Given the description of an element on the screen output the (x, y) to click on. 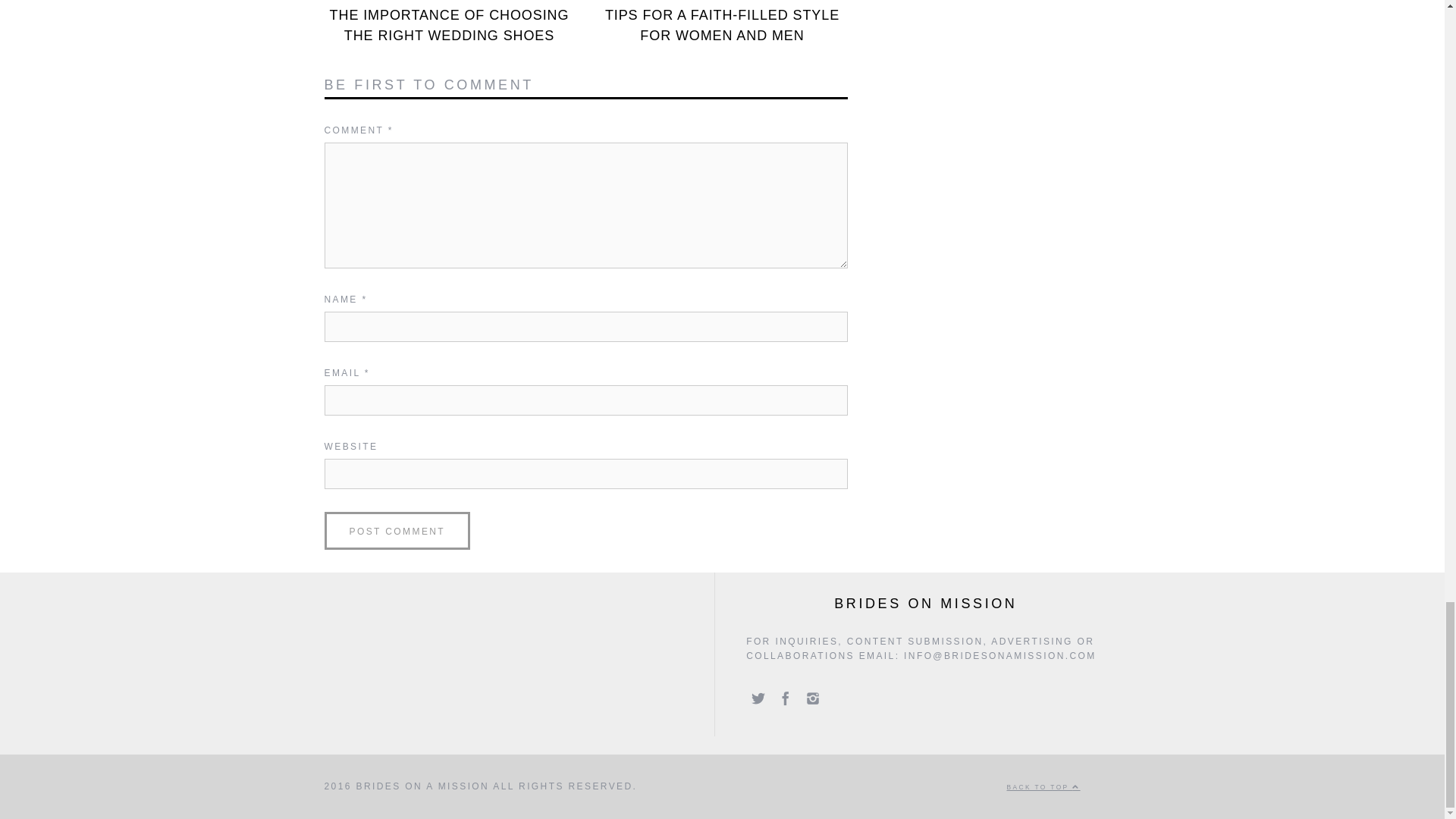
Post Comment (397, 530)
